Given the description of an element on the screen output the (x, y) to click on. 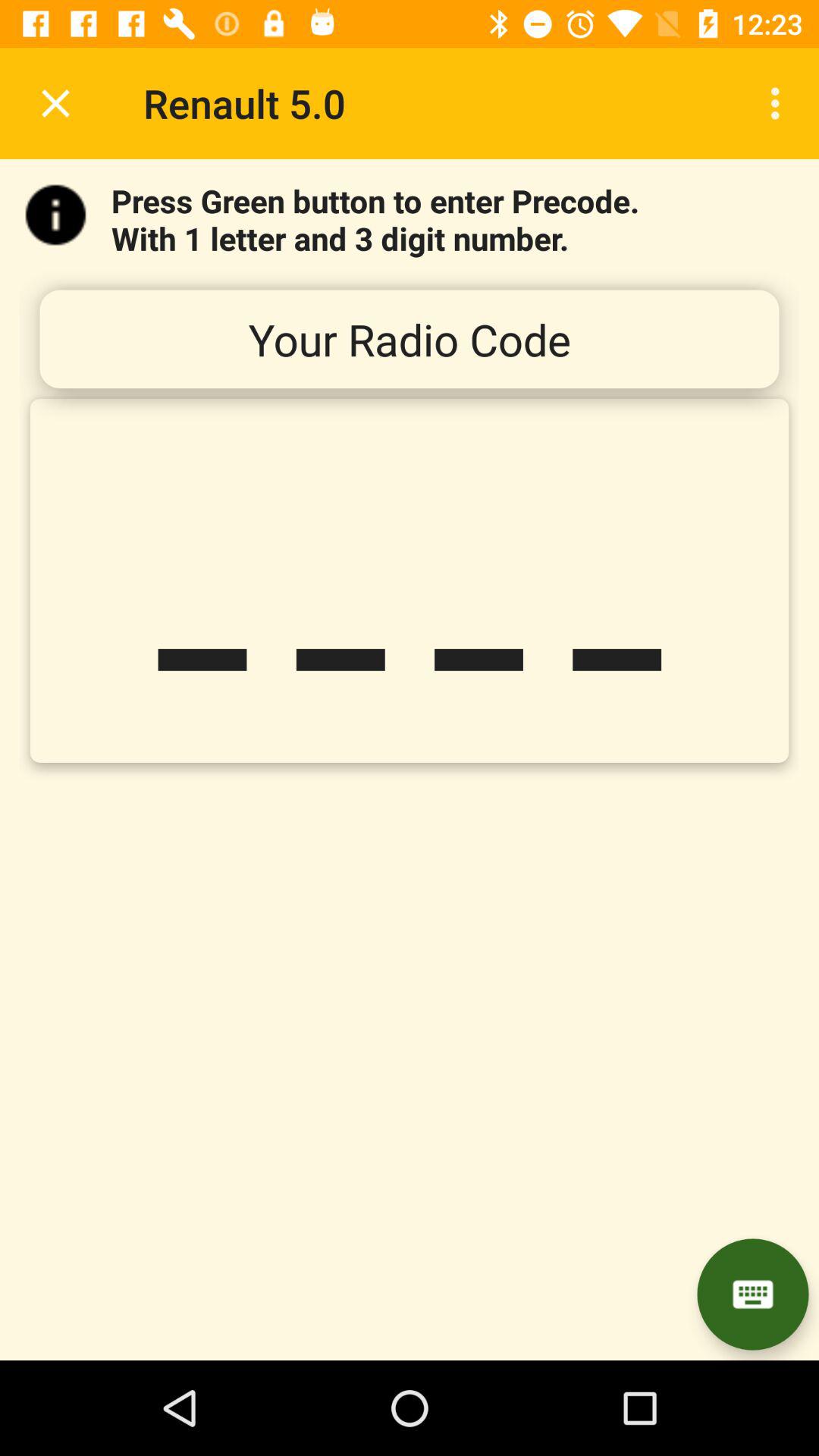
choose icon above your radio code item (779, 103)
